Given the description of an element on the screen output the (x, y) to click on. 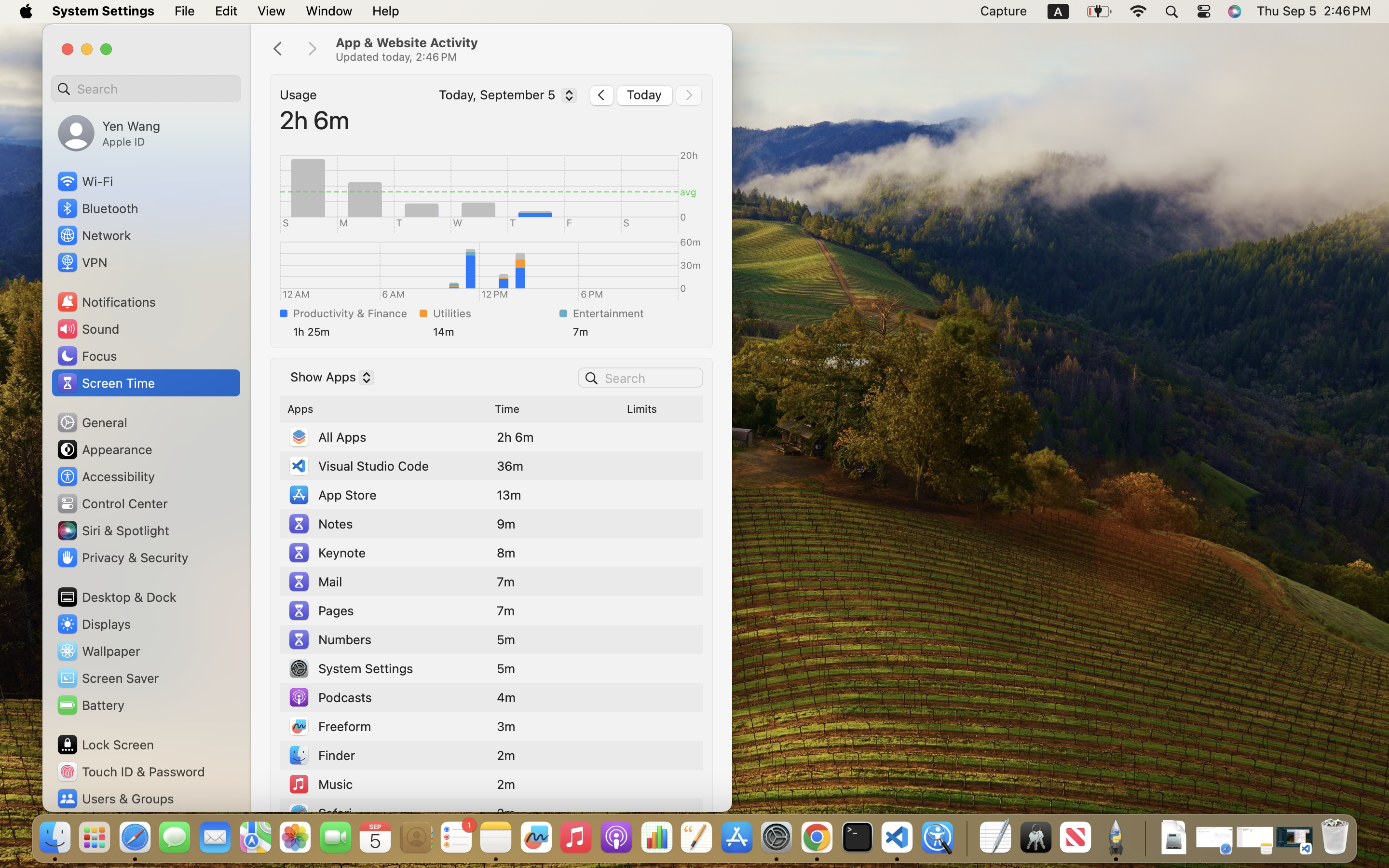
7m Element type: AXStaticText (634, 331)
1h 25m Element type: AXStaticText (354, 331)
Network Element type: AXStaticText (93, 234)
Music Element type: AXStaticText (320, 783)
Wi‑Fi Element type: AXStaticText (83, 180)
